Given the description of an element on the screen output the (x, y) to click on. 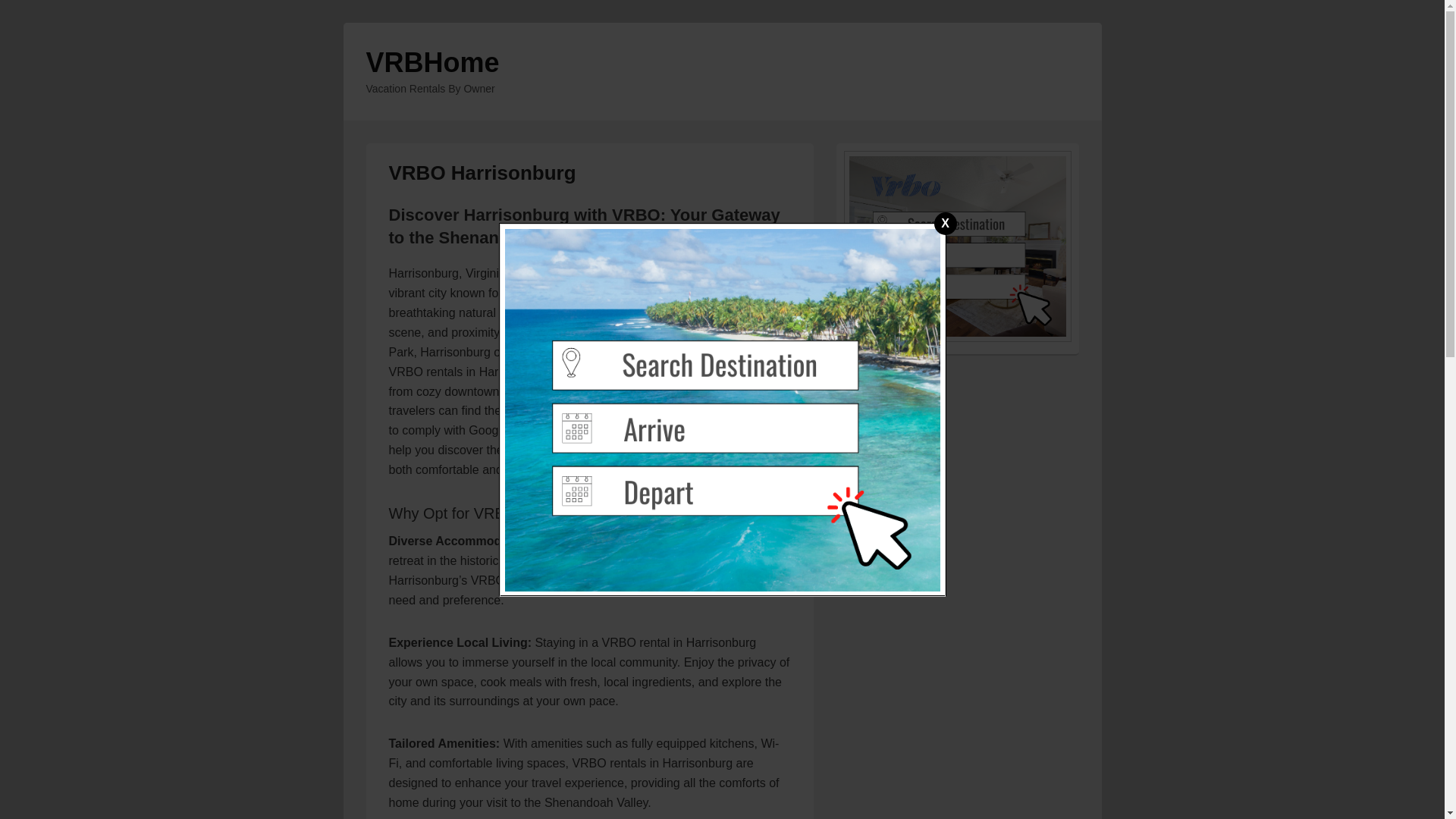
VRBHome (432, 61)
